Given the description of an element on the screen output the (x, y) to click on. 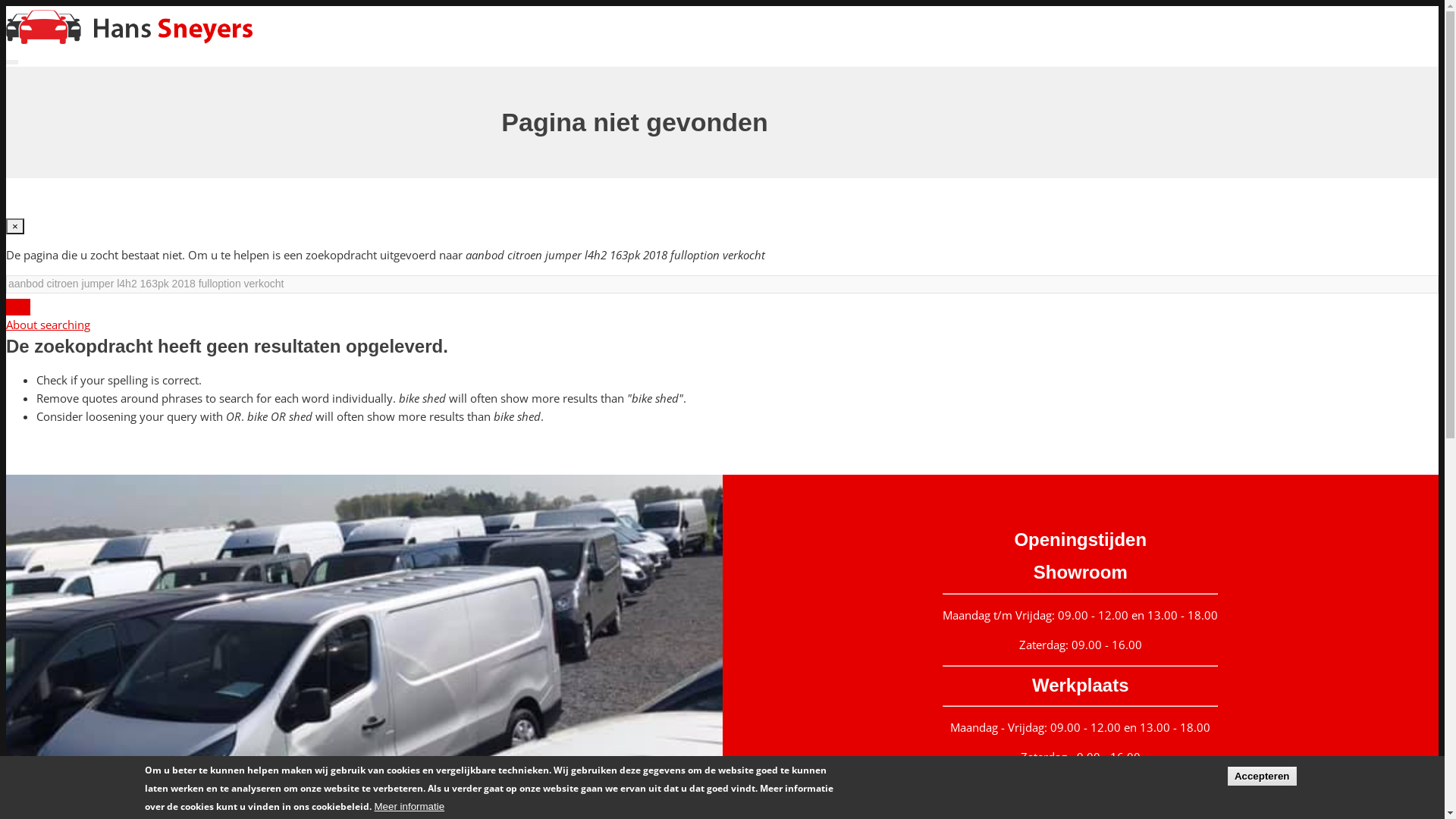
Uw wagen verkopen Element type: text (1360, 125)
Accepteren Element type: text (1261, 774)
Over ons Element type: text (1331, 106)
Aanbod Element type: text (1328, 87)
Overslaan en naar de inhoud gaan Element type: text (6, 6)
Home Element type: hover (129, 39)
About searching Element type: text (48, 324)
Navigatie wisselen Element type: text (12, 61)
Zoeken Element type: text (18, 306)
Contact Element type: text (1328, 144)
Geef de woorden op waarnaar u wilt zoeken. Element type: hover (722, 284)
Meer informatie Element type: text (409, 806)
